Given the description of an element on the screen output the (x, y) to click on. 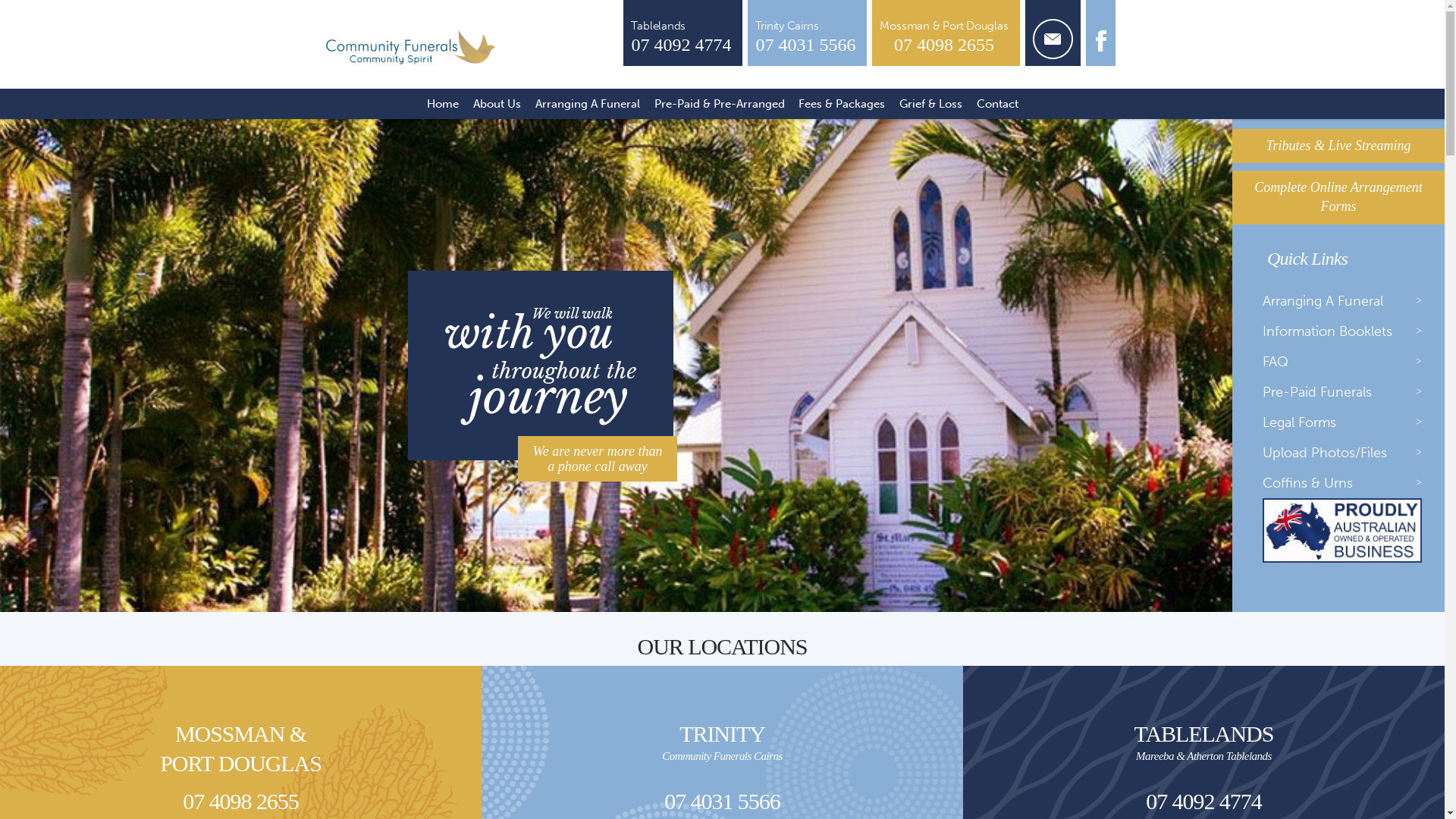
Arranging A Funeral Element type: text (586, 103)
FAQ Element type: text (1345, 361)
Tributes & Live Streaming Element type: text (1338, 145)
Legal Forms Element type: text (1345, 422)
Coffins & Urns Element type: text (1345, 482)
Arranging A Funeral Element type: text (1345, 300)
Fees & Packages Element type: text (840, 103)
TABLELANDS
Mareeba & Atherton Tablelands Element type: text (1203, 741)
MOSSMAN &
PORT DOUGLAS Element type: text (240, 748)
Contact Element type: text (997, 103)
Tablelands
07 4092 4774 Element type: text (682, 32)
Complete Online Arrangement Forms Element type: text (1338, 196)
Information Booklets Element type: text (1345, 331)
TRINITY
Community Funerals Cairns Element type: text (722, 741)
Home Element type: text (442, 103)
Pre-Paid & Pre-Arranged Element type: text (718, 103)
About Us Element type: text (496, 103)
Upload Photos/Files Element type: text (1345, 452)
Trinity Cairns
07 4031 5566 Element type: text (806, 32)
Mossman & Port Douglas
07 4098 2655 Element type: text (945, 32)
Grief & Loss Element type: text (930, 103)
Pre-Paid Funerals Element type: text (1345, 391)
